Given the description of an element on the screen output the (x, y) to click on. 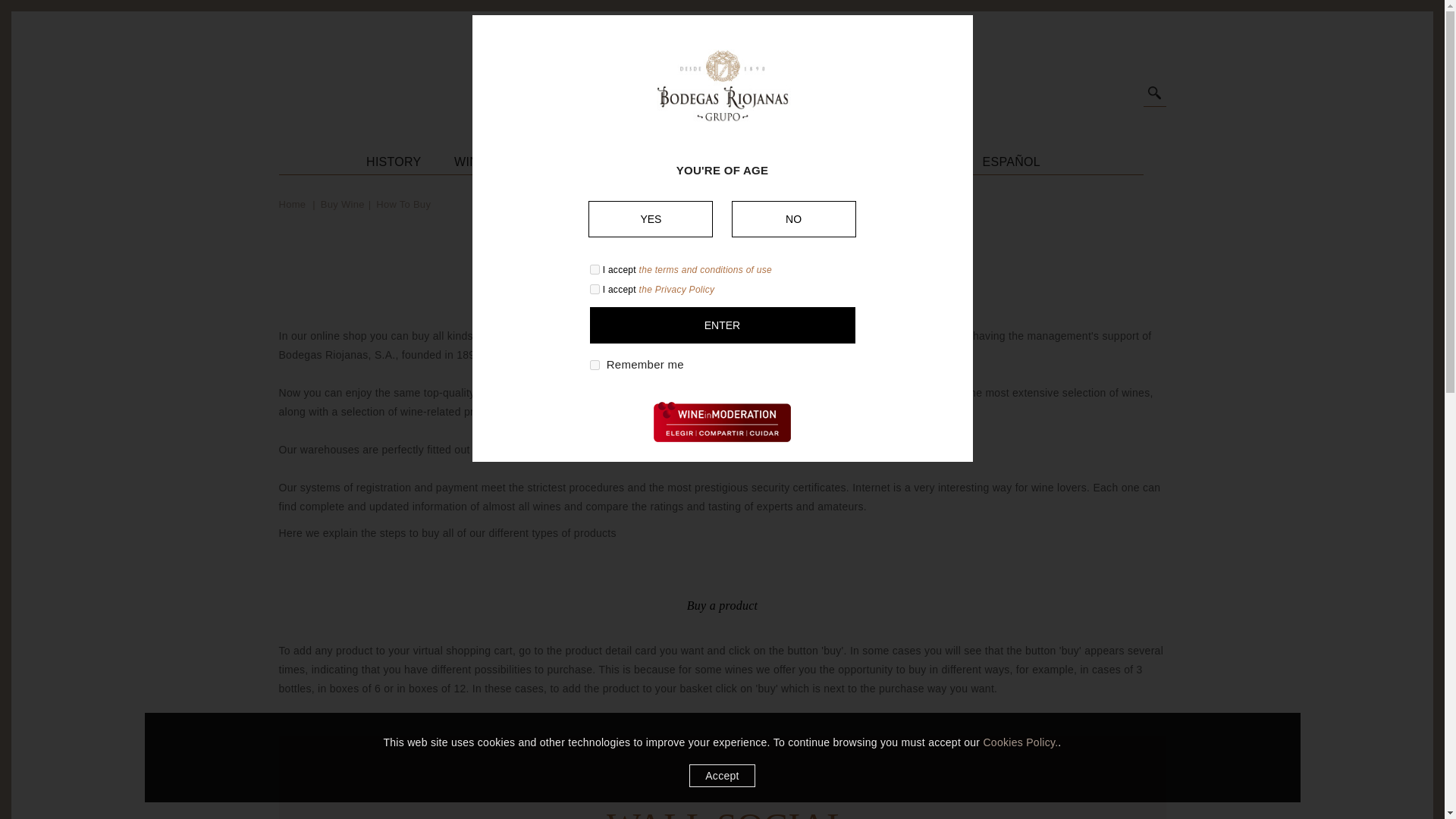
recuerda (594, 365)
WINERIES (484, 158)
Home (293, 204)
INVESTORS (913, 158)
Buy Wine (342, 204)
1 (594, 289)
WINES (684, 158)
WINEMAKING (589, 158)
HISTORY (393, 158)
1 (594, 269)
